Given the description of an element on the screen output the (x, y) to click on. 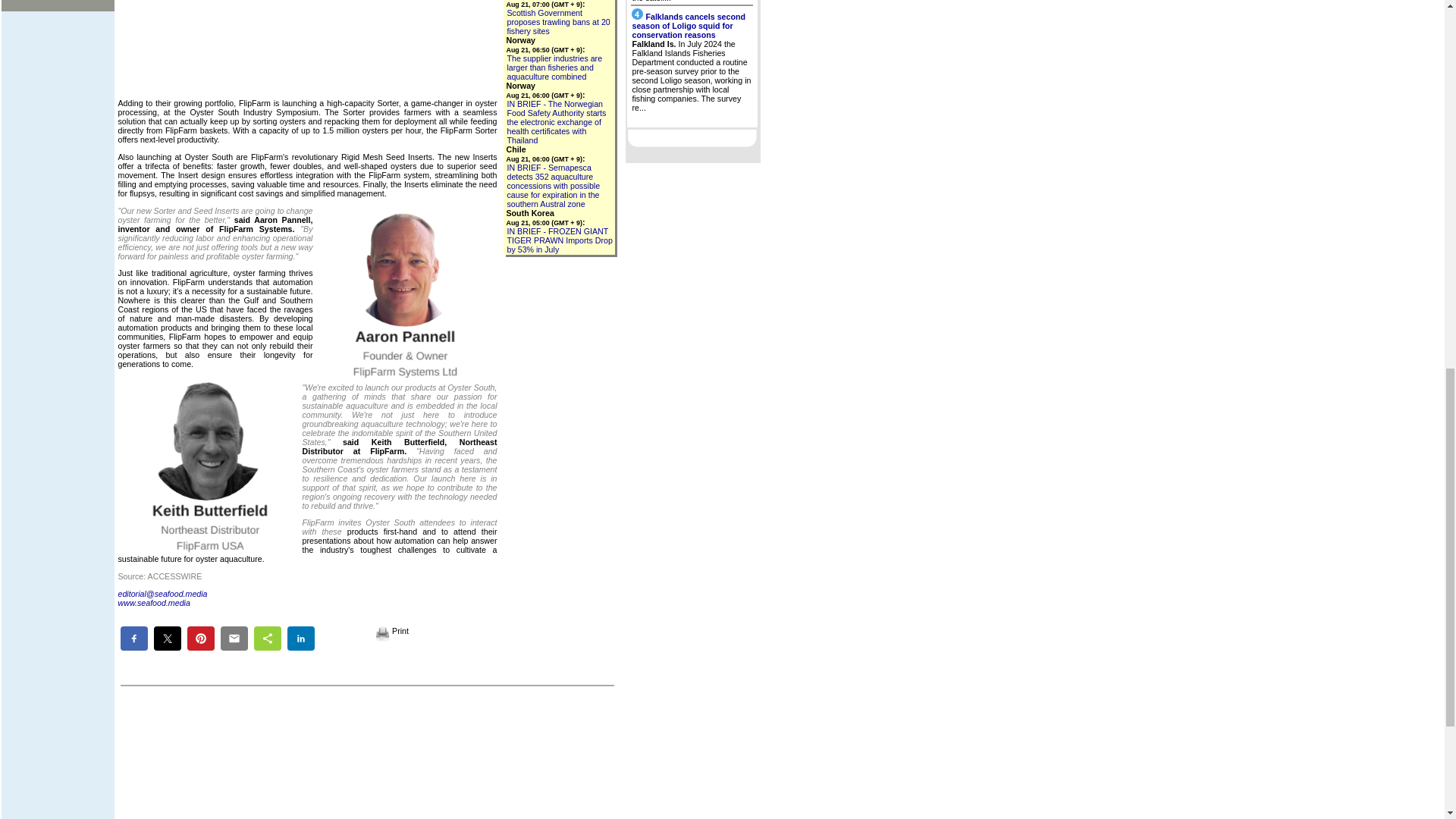
 Print (392, 630)
www.seafood.media (153, 602)
